Given the description of an element on the screen output the (x, y) to click on. 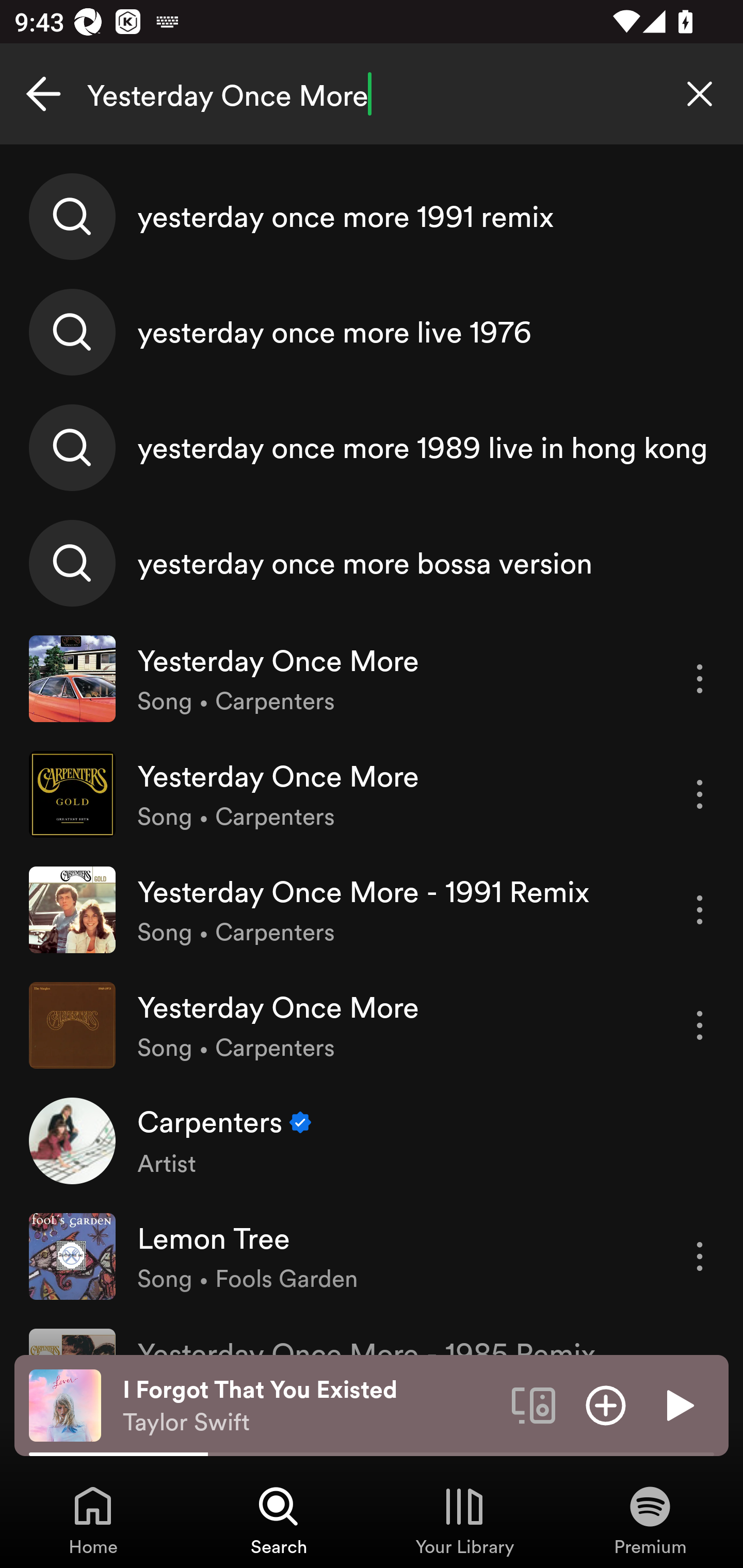
Yesterday Once More (371, 93)
Cancel (43, 93)
Clear search query (699, 93)
yesterday once more 1991 remix (371, 216)
yesterday once more live 1976 (371, 332)
yesterday once more 1989 live in hong kong (371, 447)
yesterday once more bossa version (371, 562)
More options for song Yesterday Once More (699, 678)
More options for song Yesterday Once More (699, 794)
More options for song Yesterday Once More (699, 1025)
Carpenters Verified Artist (371, 1140)
More options for song Lemon Tree (699, 1256)
I Forgot That You Existed Taylor Swift (309, 1405)
The cover art of the currently playing track (64, 1404)
Connect to a device. Opens the devices menu (533, 1404)
Add item (605, 1404)
Play (677, 1404)
Home, Tab 1 of 4 Home Home (92, 1519)
Search, Tab 2 of 4 Search Search (278, 1519)
Your Library, Tab 3 of 4 Your Library Your Library (464, 1519)
Premium, Tab 4 of 4 Premium Premium (650, 1519)
